Given the description of an element on the screen output the (x, y) to click on. 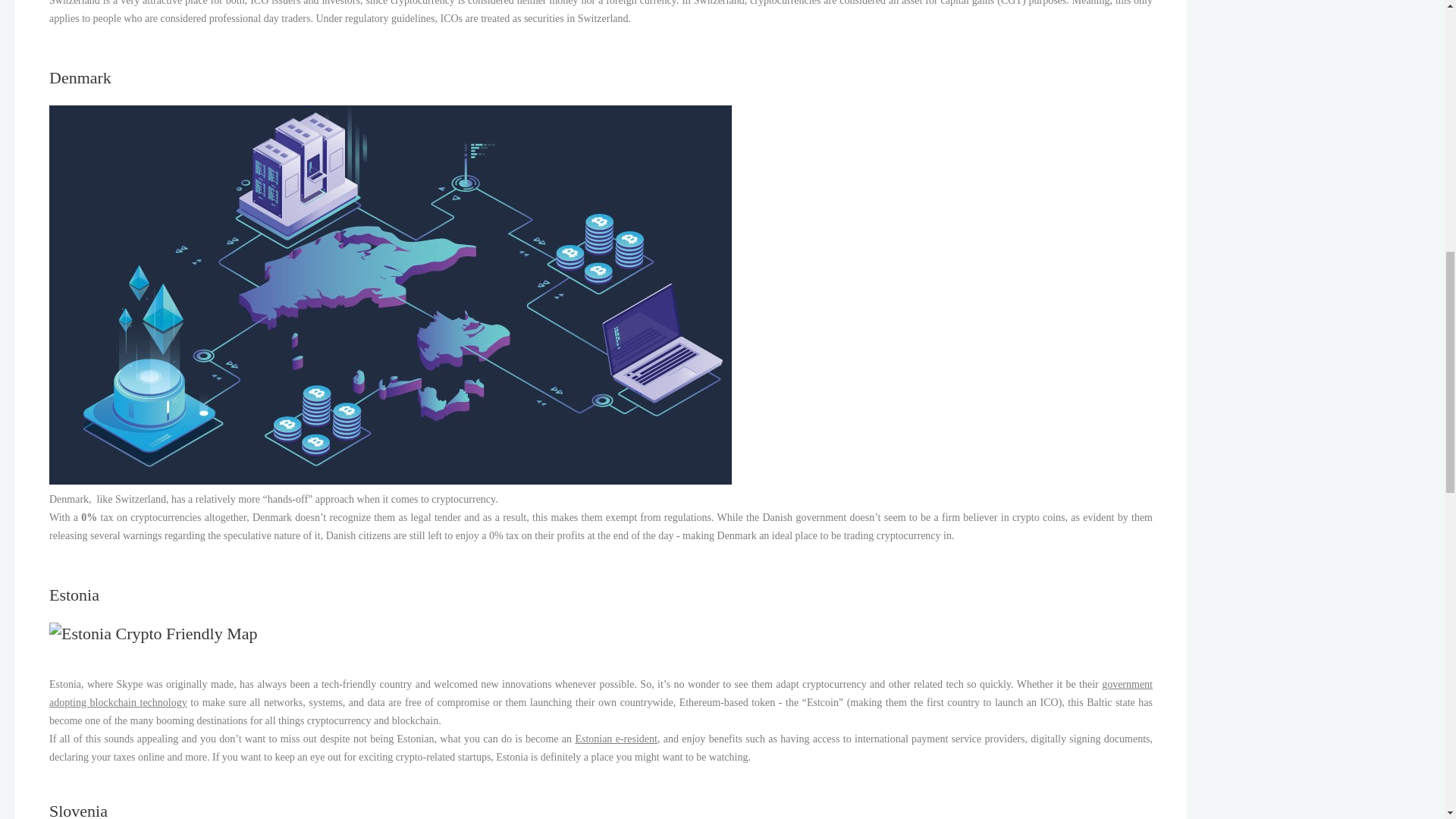
government adopting blockchain technology (601, 693)
Estonian e-resident (616, 738)
